Given the description of an element on the screen output the (x, y) to click on. 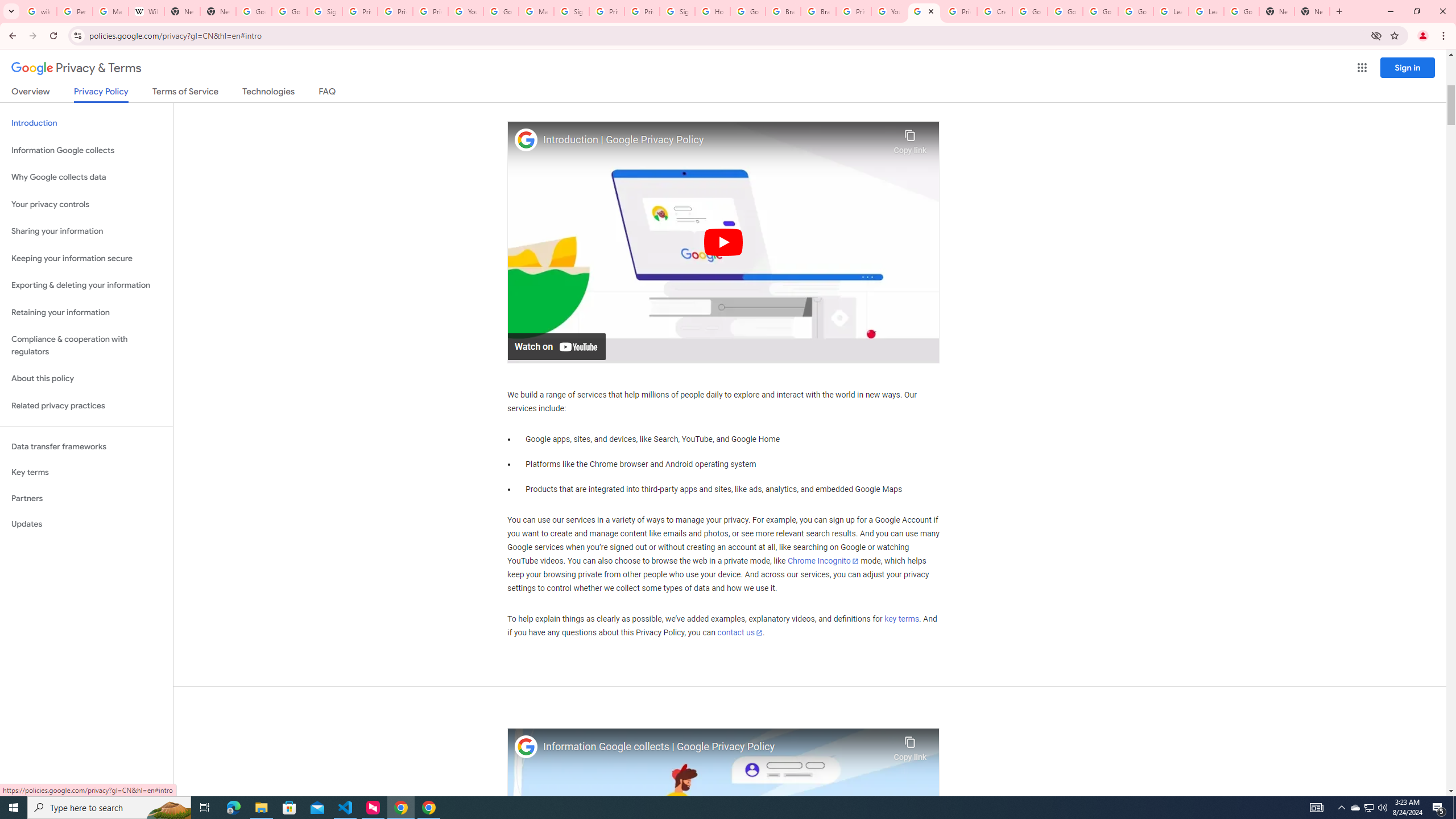
Manage your Location History - Google Search Help (110, 11)
Watch on YouTube (556, 346)
key terms (900, 619)
Sign in - Google Accounts (677, 11)
Google Account (1240, 11)
Updates (86, 524)
Google Account Help (1029, 11)
Exporting & deleting your information (86, 284)
